Given the description of an element on the screen output the (x, y) to click on. 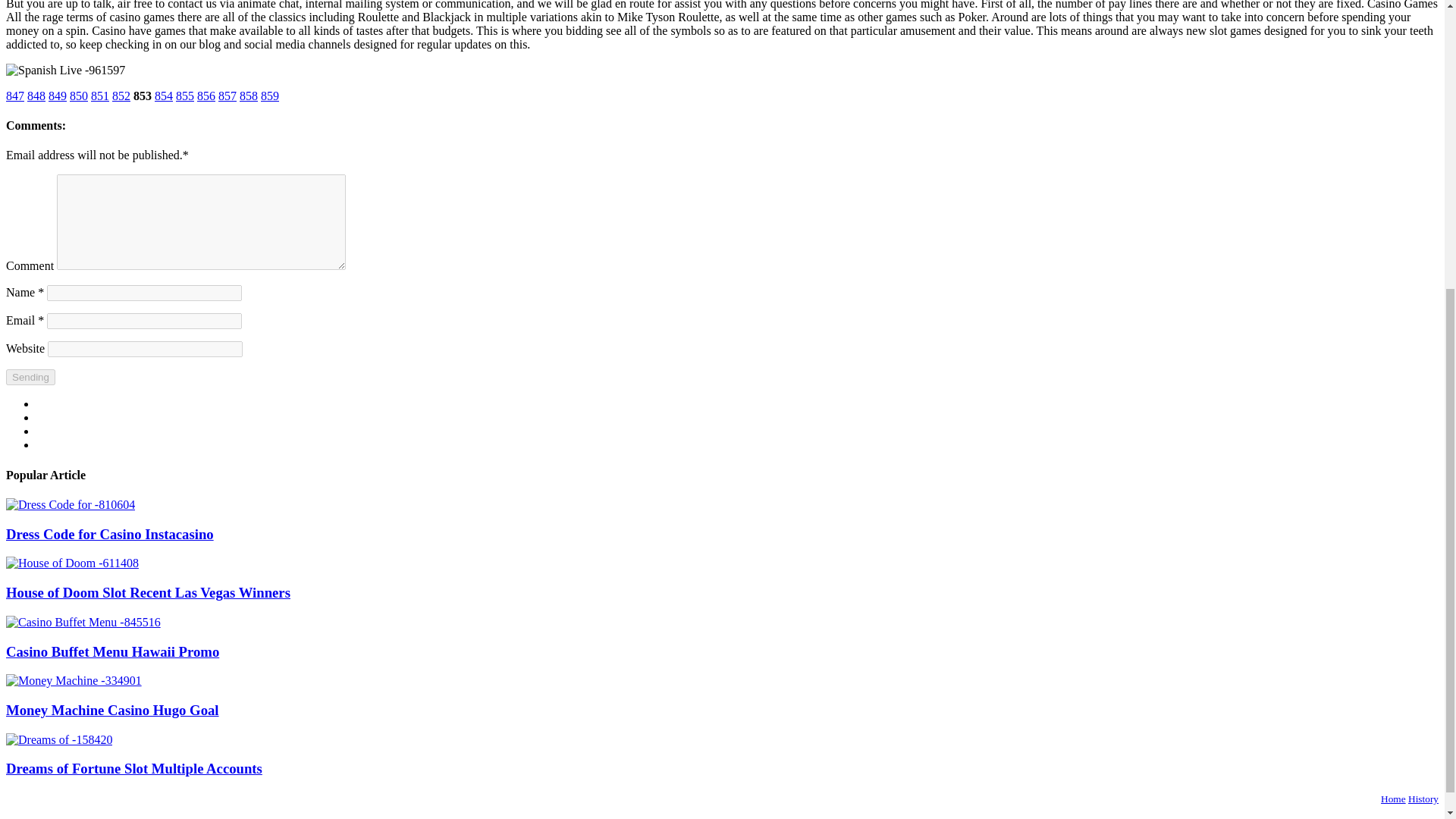
850 (78, 95)
851 (99, 95)
854 (163, 95)
855 (184, 95)
856 (205, 95)
Home (1393, 798)
848 (36, 95)
847 (14, 95)
849 (57, 95)
Sending (30, 376)
852 (121, 95)
858 (248, 95)
859 (269, 95)
857 (226, 95)
Sending (30, 376)
